Given the description of an element on the screen output the (x, y) to click on. 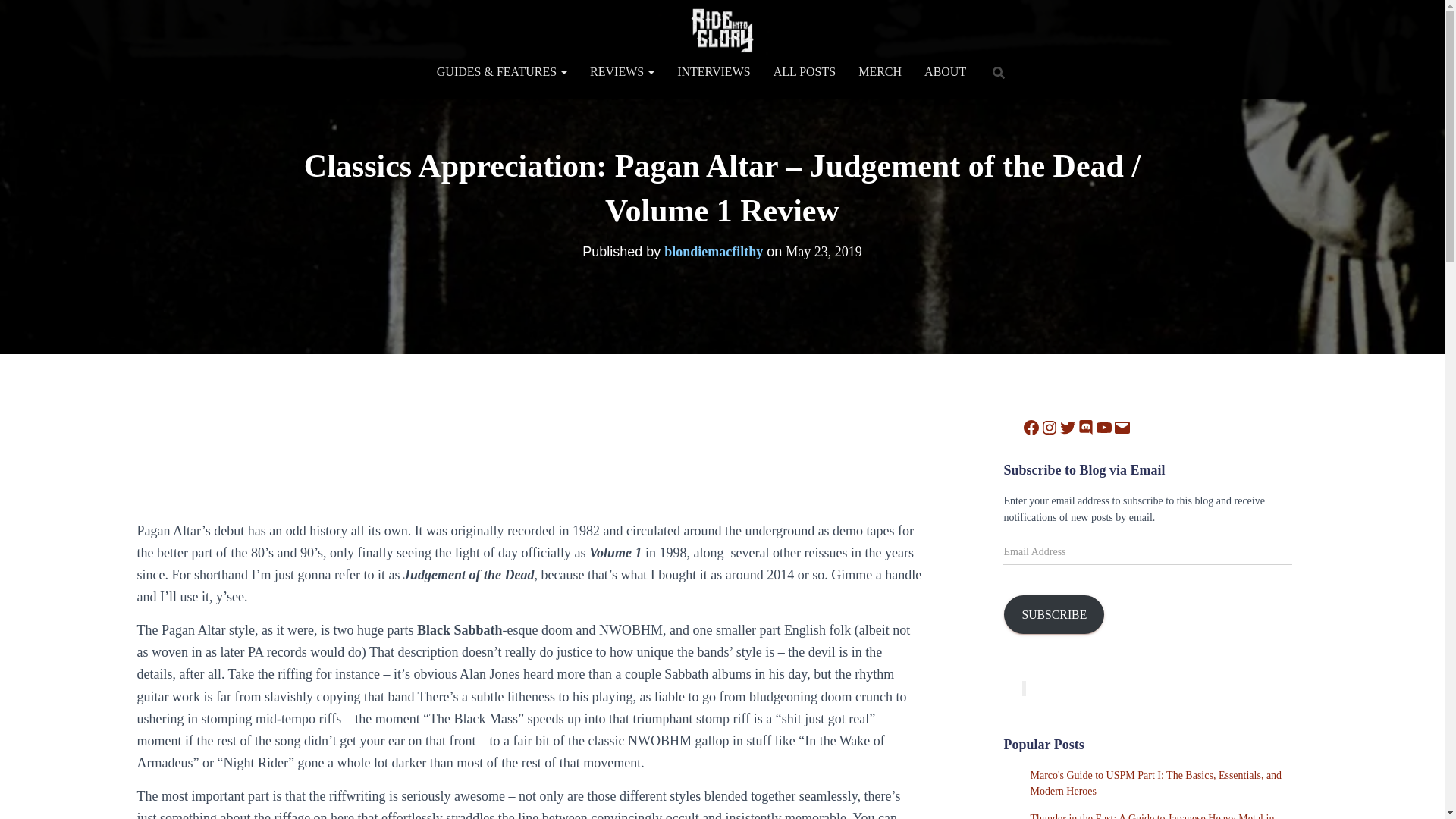
INTERVIEWS (713, 71)
Ride Into Glory (721, 30)
MERCH (879, 71)
blondiemacfilthy (712, 251)
ABOUT (944, 71)
REVIEWS (621, 71)
ALL POSTS (804, 71)
